Given the description of an element on the screen output the (x, y) to click on. 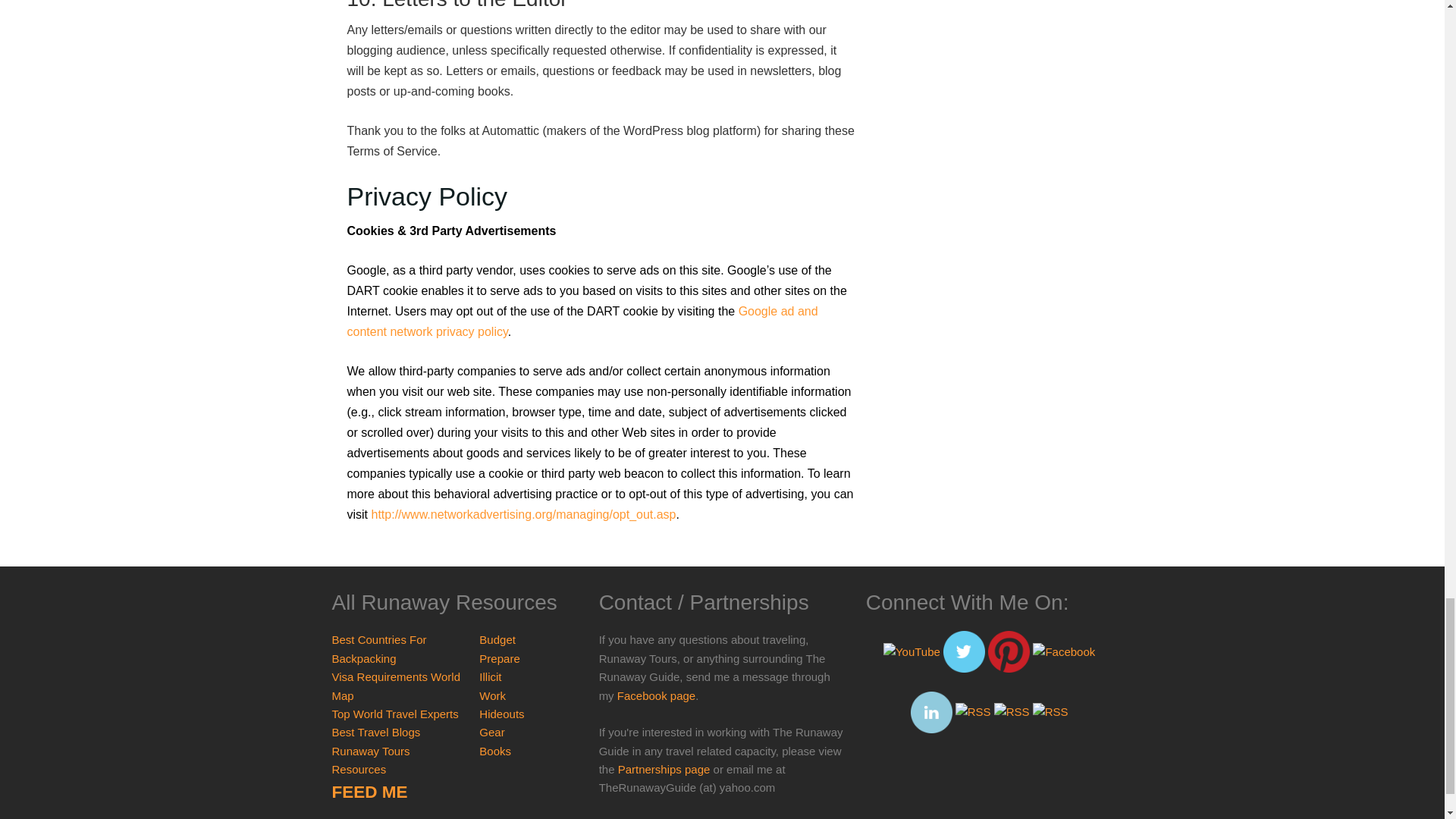
Work (492, 695)
FEED ME (369, 791)
Facebook (1063, 651)
Gear (491, 731)
Instagram (973, 711)
Runaway Tours (370, 750)
Prepare (499, 658)
Best Travel Blogs (375, 731)
Hideouts (501, 713)
Google ad and content network privacy policy (582, 321)
